Given the description of an element on the screen output the (x, y) to click on. 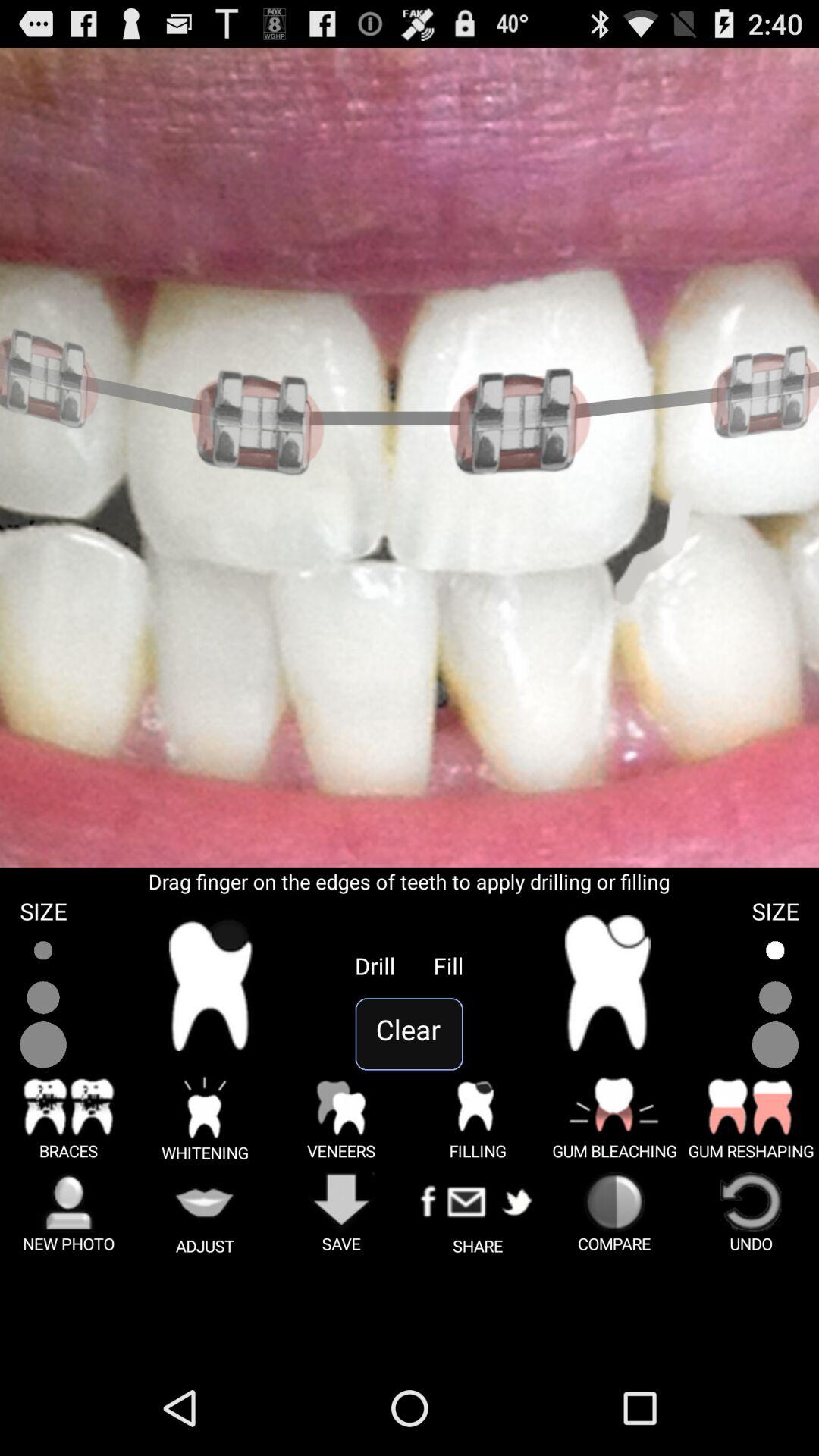
flip until the clear (408, 1033)
